Given the description of an element on the screen output the (x, y) to click on. 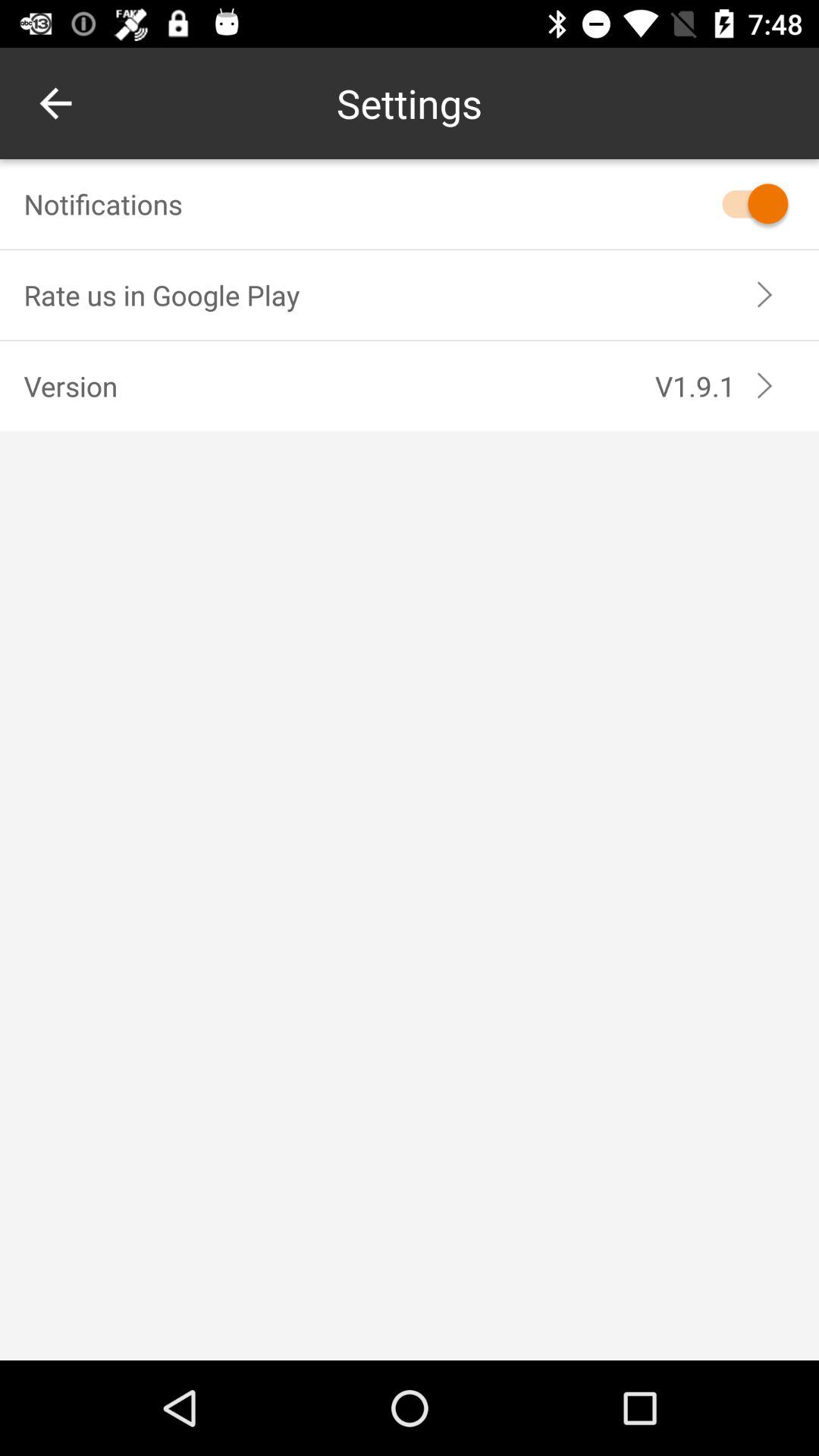
press the item at the top left corner (55, 103)
